Given the description of an element on the screen output the (x, y) to click on. 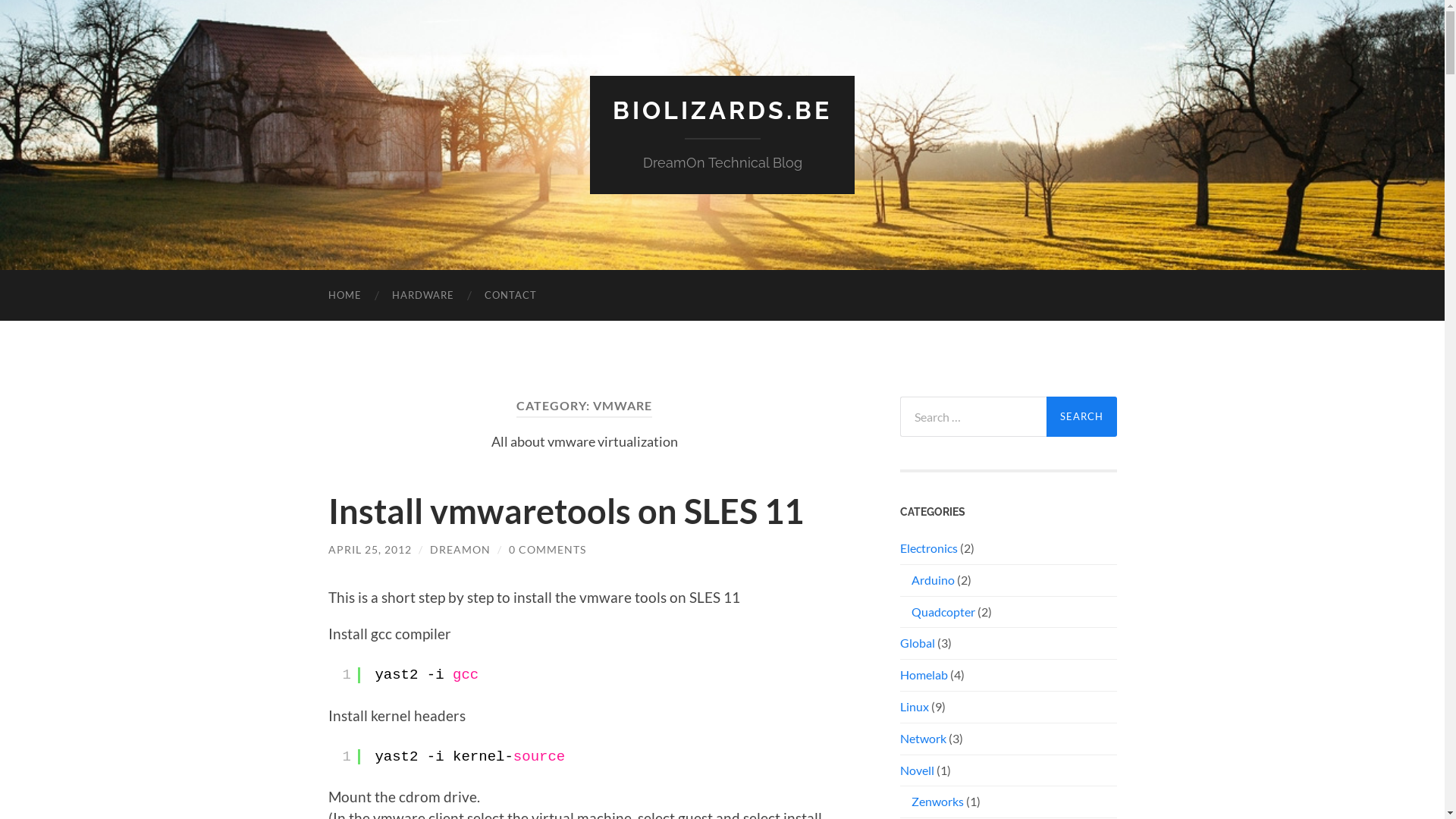
APRIL 25, 2012 Element type: text (369, 548)
Install vmwaretools on SLES 11 Element type: text (565, 510)
Quadcopter Element type: text (943, 611)
Zenworks Element type: text (937, 800)
CONTACT Element type: text (509, 294)
Homelab Element type: text (923, 674)
0 COMMENTS Element type: text (546, 548)
Arduino Element type: text (932, 579)
Linux Element type: text (913, 706)
Search Element type: text (1081, 416)
Global Element type: text (916, 642)
Novell Element type: text (916, 769)
Network Element type: text (922, 738)
HARDWARE Element type: text (422, 294)
DREAMON Element type: text (459, 548)
Electronics Element type: text (928, 547)
HOME Element type: text (344, 294)
BIOLIZARDS.BE Element type: text (721, 110)
